Given the description of an element on the screen output the (x, y) to click on. 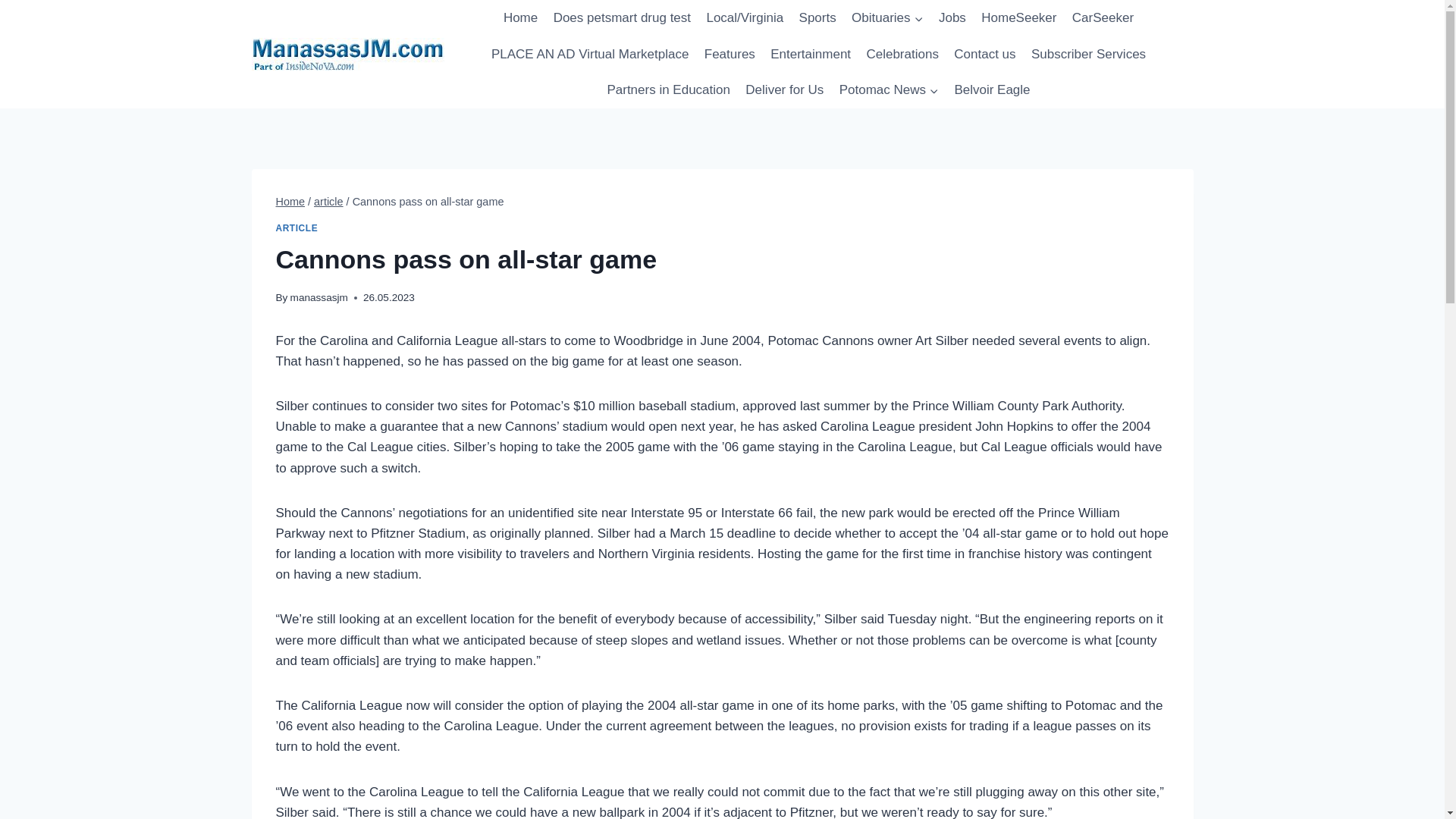
Subscriber Services (1088, 54)
HomeSeeker (1019, 18)
Deliver for Us (784, 90)
Potomac News (888, 90)
CarSeeker (1102, 18)
ARTICLE (297, 227)
Belvoir Eagle (992, 90)
Jobs (952, 18)
article (328, 201)
Features (729, 54)
